Given the description of an element on the screen output the (x, y) to click on. 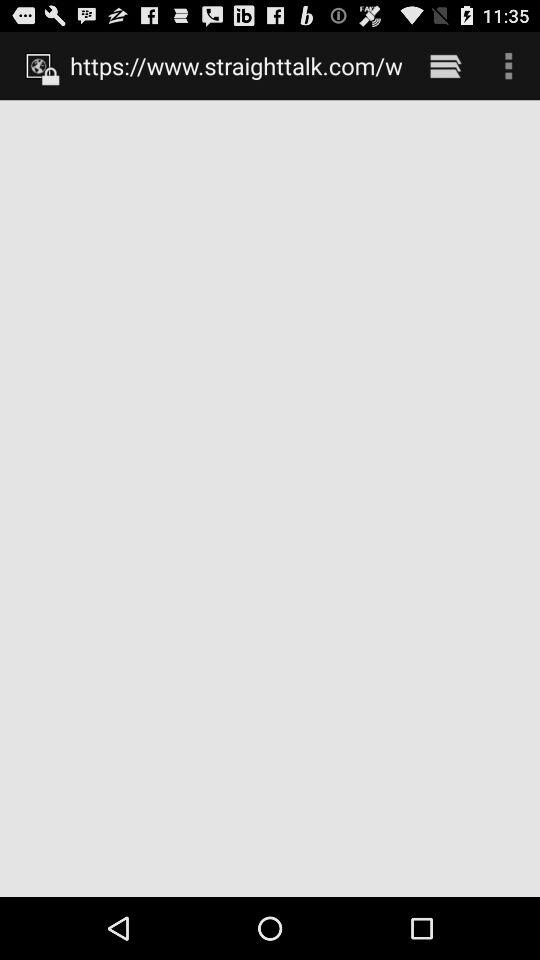
open the icon next to the https www straighttalk item (444, 65)
